Given the description of an element on the screen output the (x, y) to click on. 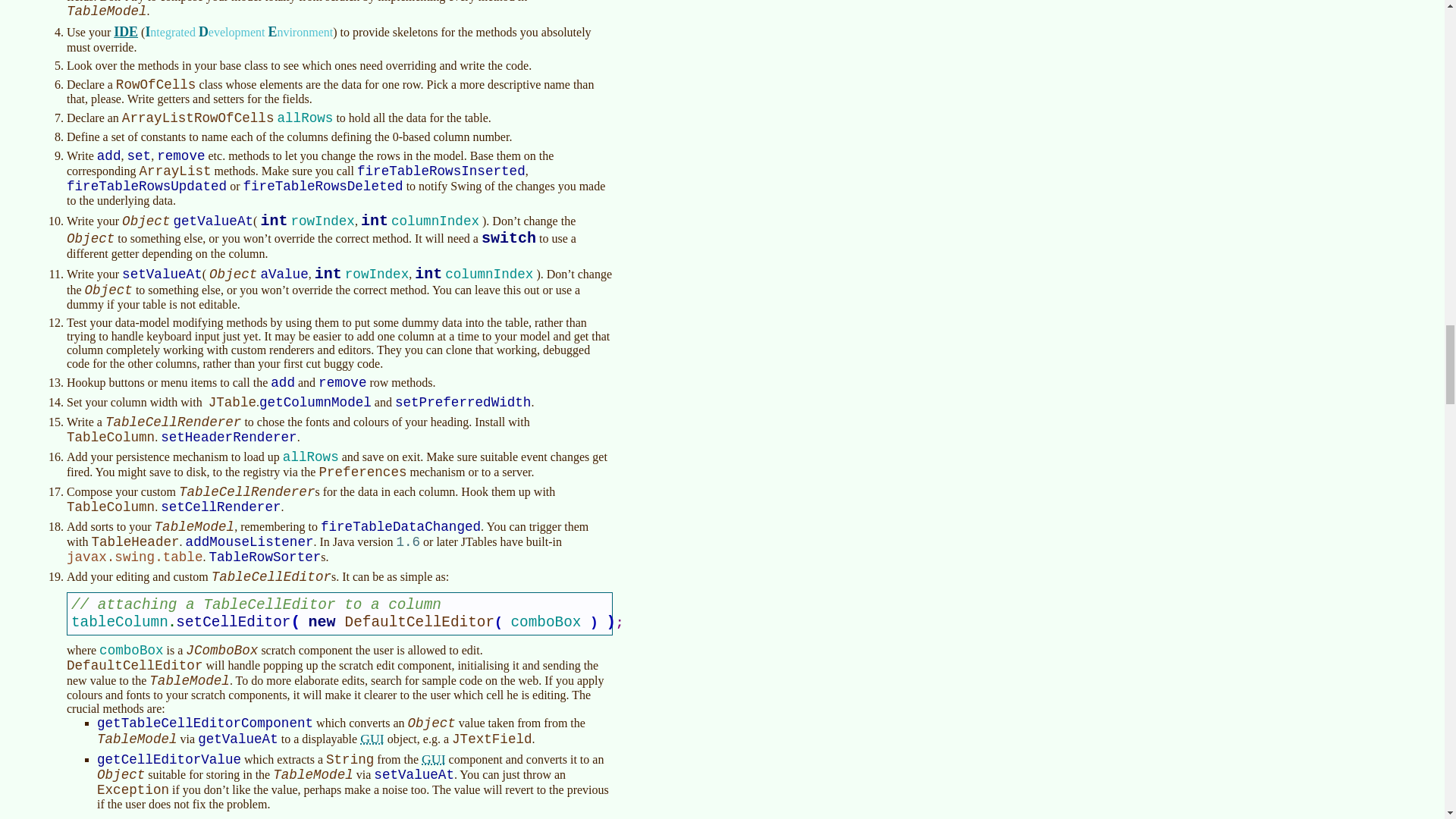
Graphic User Interface (433, 758)
Graphic User Interface (371, 738)
